Given the description of an element on the screen output the (x, y) to click on. 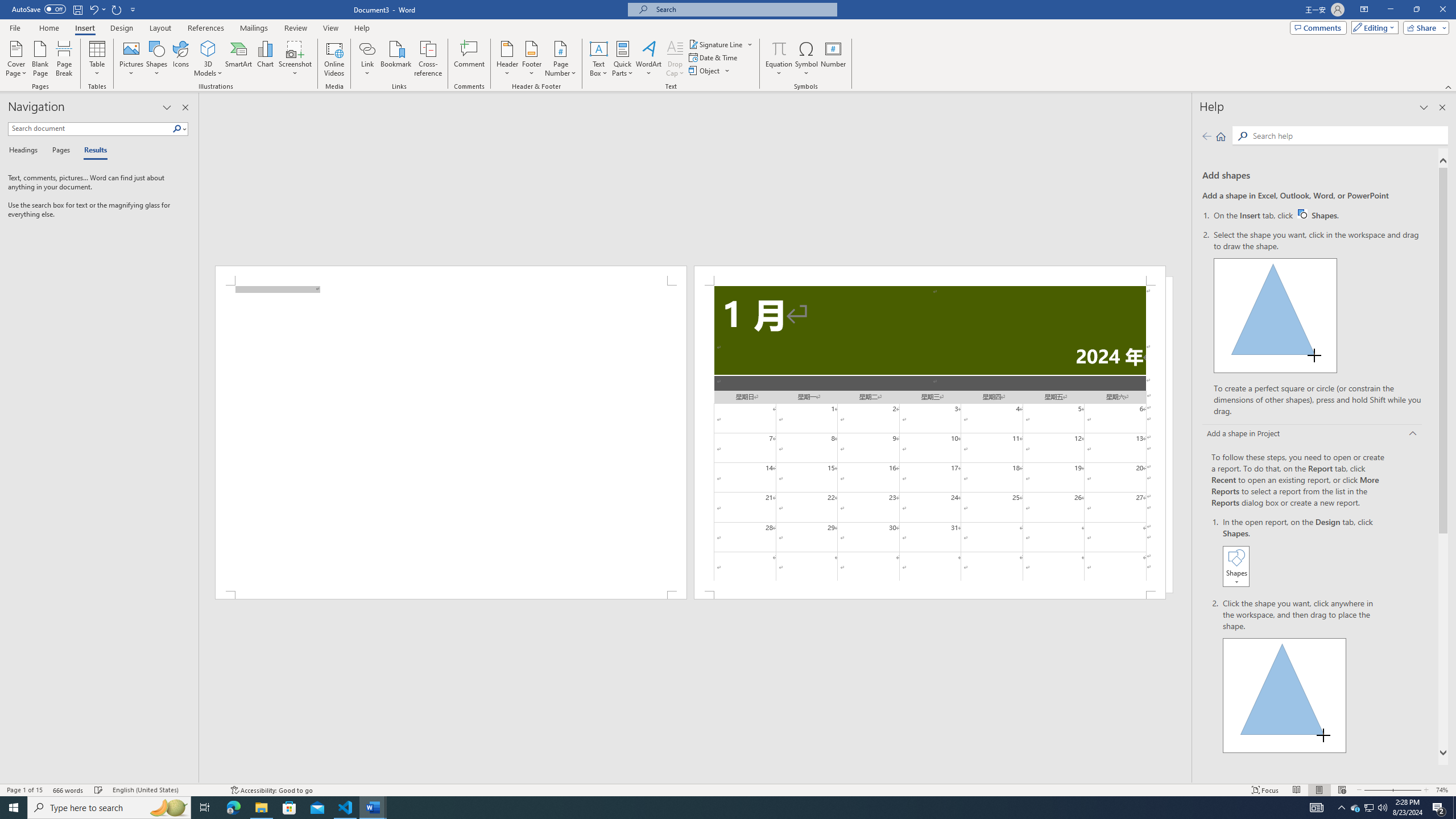
In the open report, on the Design tab, click Shapes. (1304, 552)
WordArt (648, 58)
Header (507, 58)
Chart... (1318, 214)
